Given the description of an element on the screen output the (x, y) to click on. 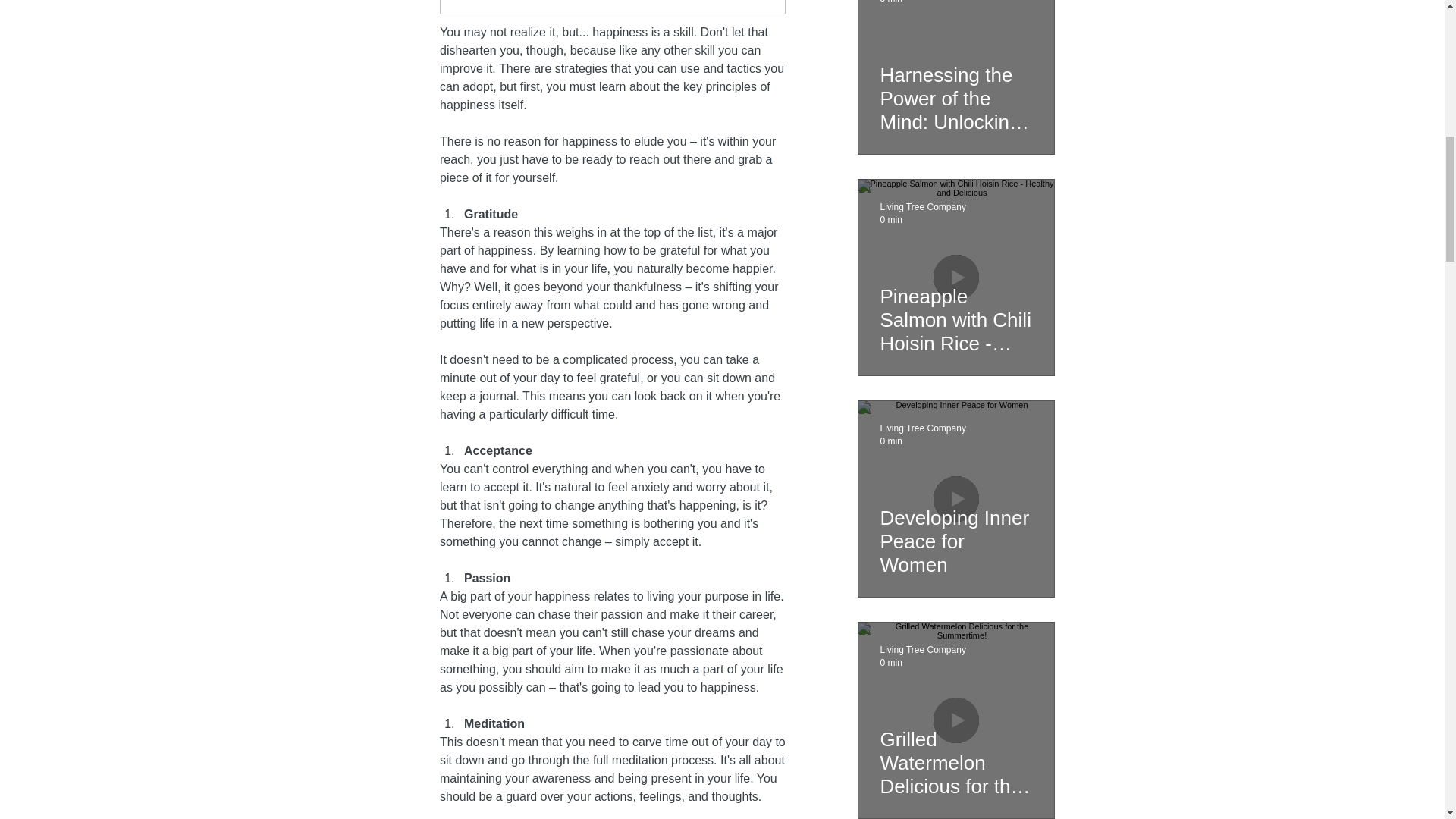
Living Tree Company (922, 428)
5 min (890, 1)
0 min (890, 218)
Living Tree Company (922, 206)
0 min (890, 661)
Living Tree Company (922, 649)
0 min (890, 439)
